Given the description of an element on the screen output the (x, y) to click on. 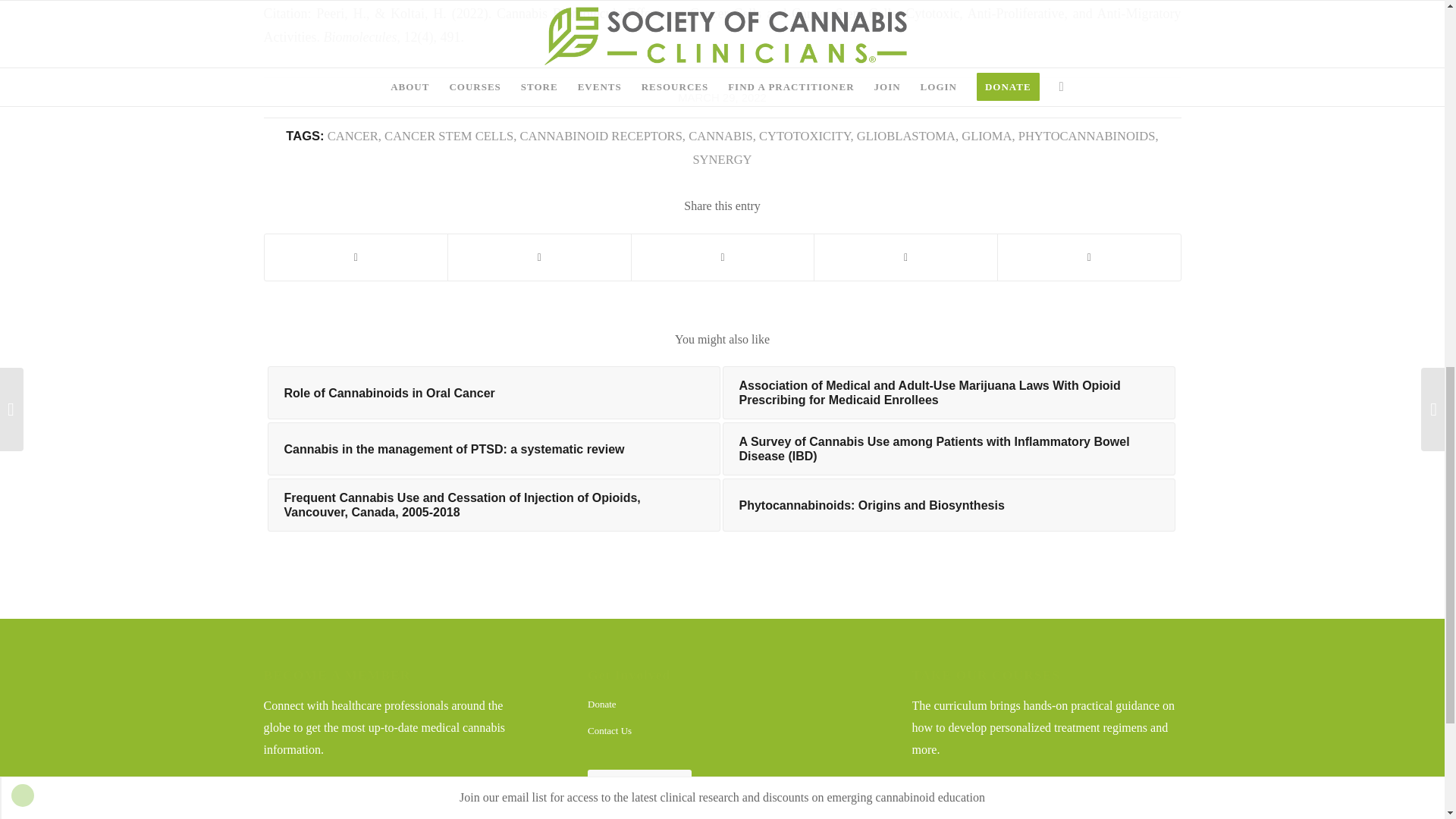
Role of Cannabinoids in Oral Cancer (492, 392)
Cannabis in the management of PTSD: a systematic review (492, 448)
CANCER (352, 135)
